Given the description of an element on the screen output the (x, y) to click on. 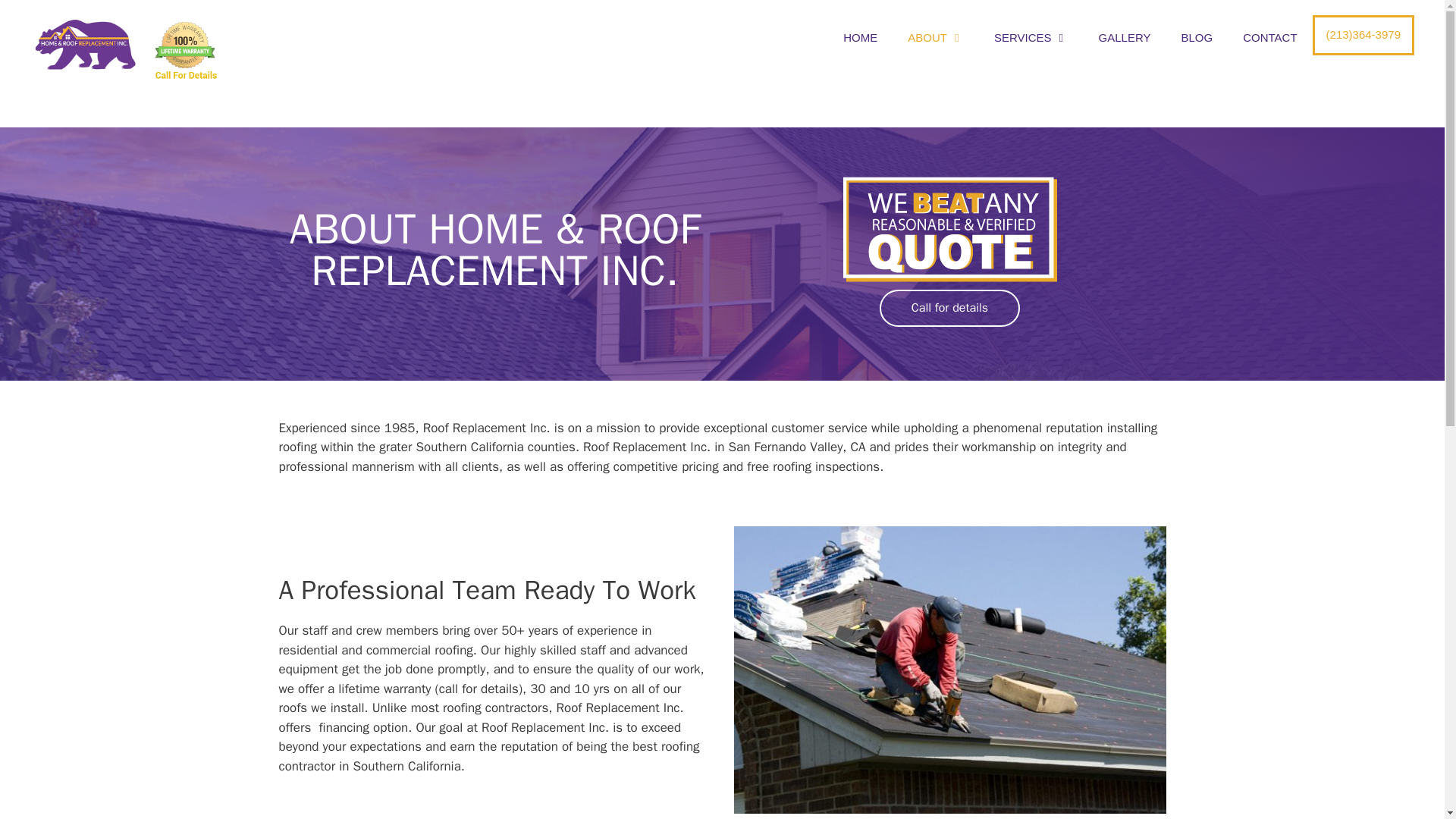
GALLERY (1124, 37)
SERVICES (1030, 37)
HOME (860, 37)
BLOG (1197, 37)
ABOUT (935, 37)
CONTACT (1269, 37)
Worker Replacing Roofing Tiles (949, 670)
Call for details (949, 308)
